Given the description of an element on the screen output the (x, y) to click on. 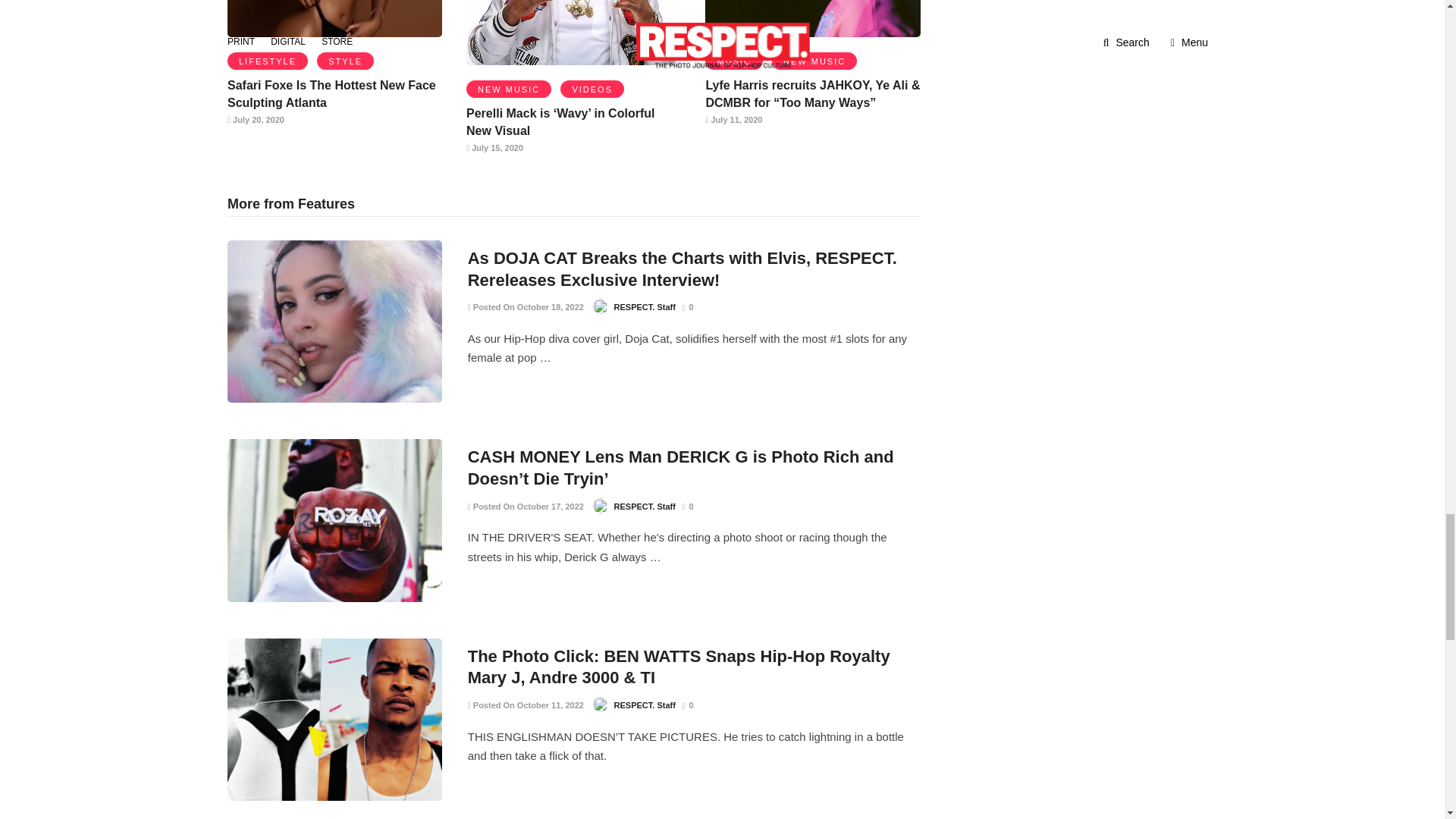
Safari Foxe Is The Hottest New Face Sculpting Atlanta (331, 93)
